Given the description of an element on the screen output the (x, y) to click on. 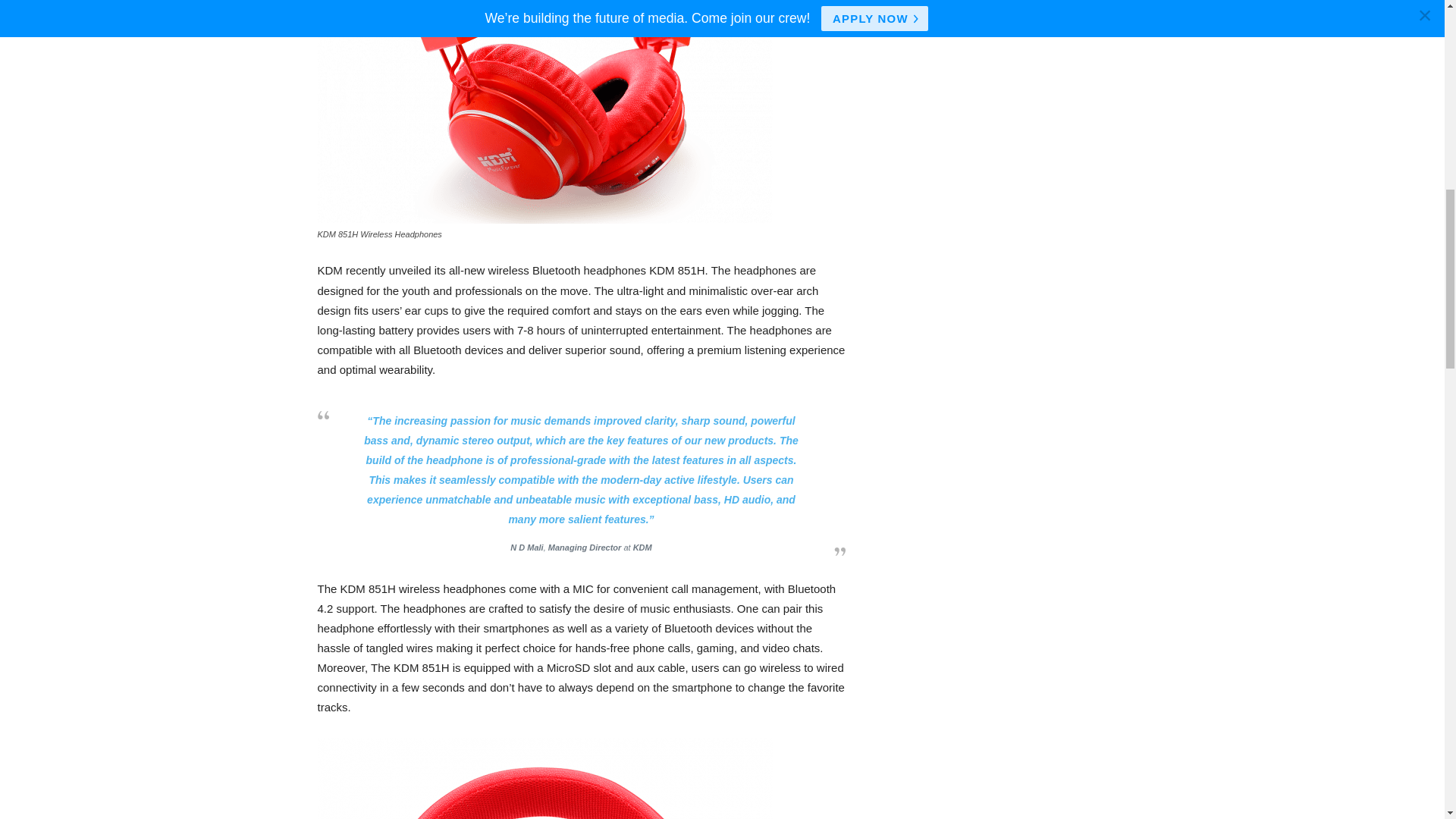
KDM 851H Wireless Headphones (544, 111)
